Given the description of an element on the screen output the (x, y) to click on. 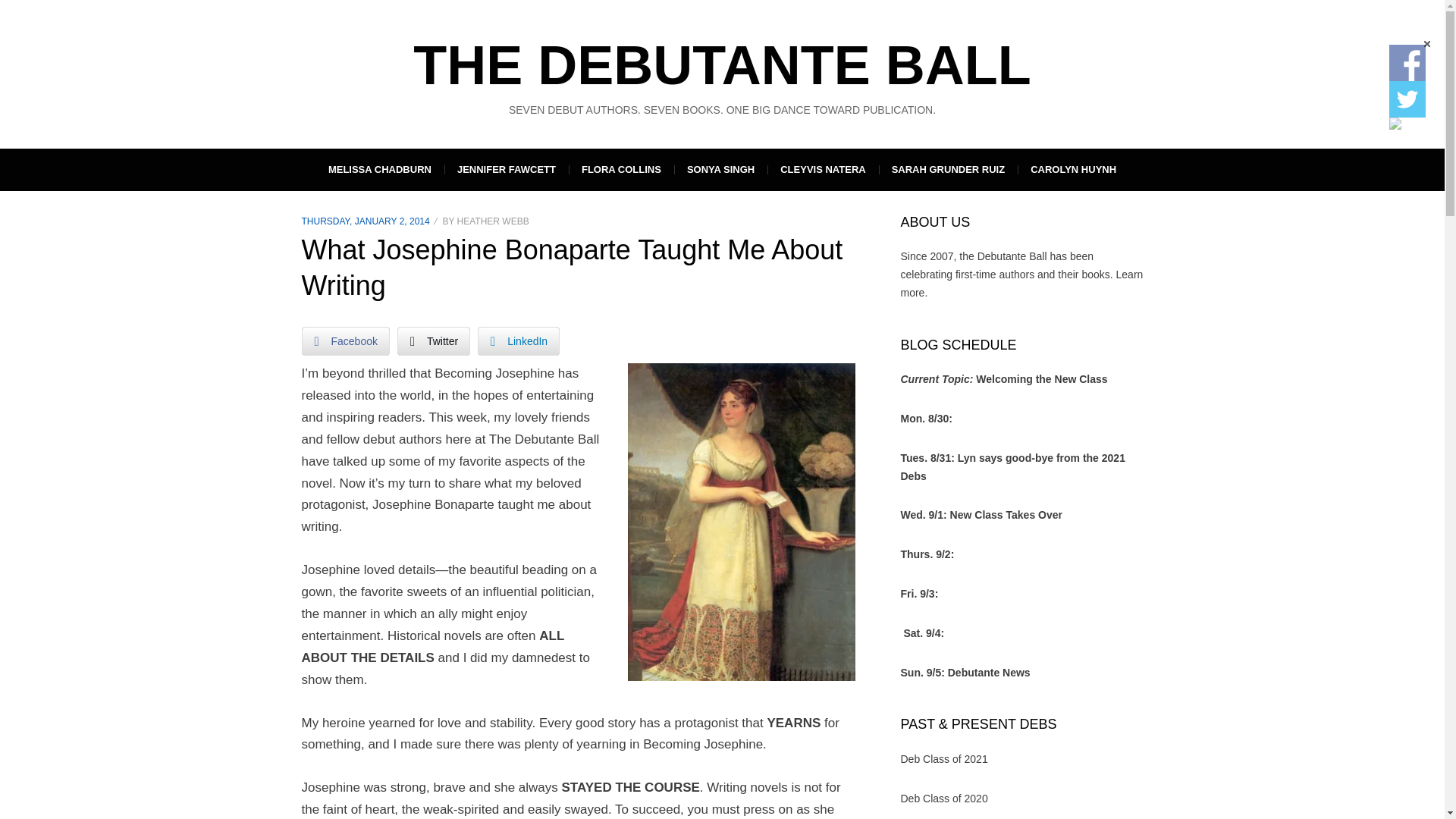
View Our Twitter Feed (1407, 99)
MELISSA CHADBURN (379, 169)
More...View Our Instagram Feed (1394, 123)
THE DEBUTANTE BALL (721, 65)
hide (1426, 43)
LinkedIn (518, 340)
CAROLYN HUYNH (1073, 169)
Visit Our Facebook Page (1407, 63)
Facebook (345, 340)
SONYA SINGH (720, 169)
SARAH GRUNDER RUIZ (948, 169)
The Debutante Ball (721, 65)
CLEYVIS NATERA (822, 169)
FLORA COLLINS (621, 169)
JENNIFER FAWCETT (506, 169)
